Given the description of an element on the screen output the (x, y) to click on. 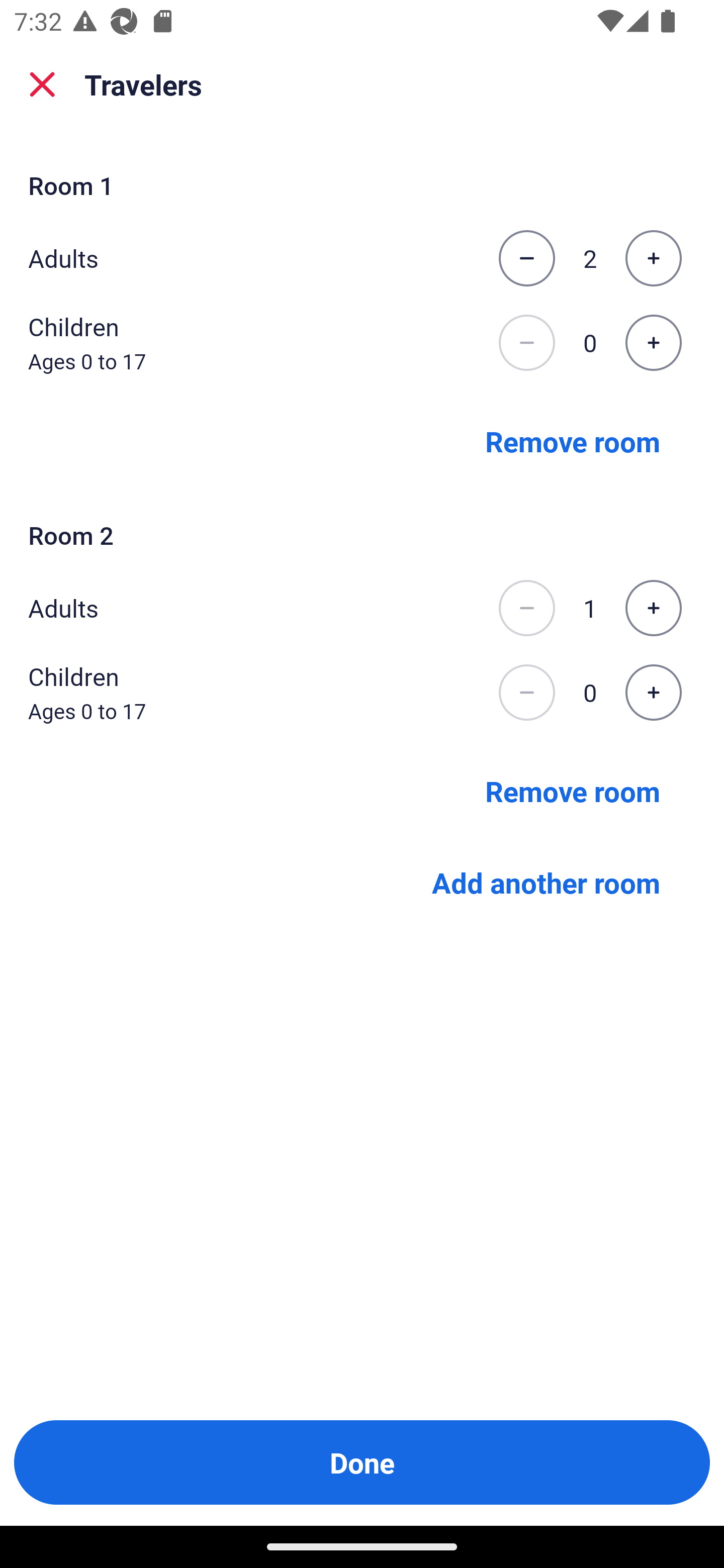
close (42, 84)
Decrease the number of adults (526, 258)
Increase the number of adults (653, 258)
Decrease the number of children (526, 343)
Increase the number of children (653, 343)
Remove room (572, 440)
Decrease the number of adults (526, 608)
Increase the number of adults (653, 608)
Decrease the number of children (526, 692)
Increase the number of children (653, 692)
Remove room (572, 790)
Add another room (545, 882)
Done (361, 1462)
